Given the description of an element on the screen output the (x, y) to click on. 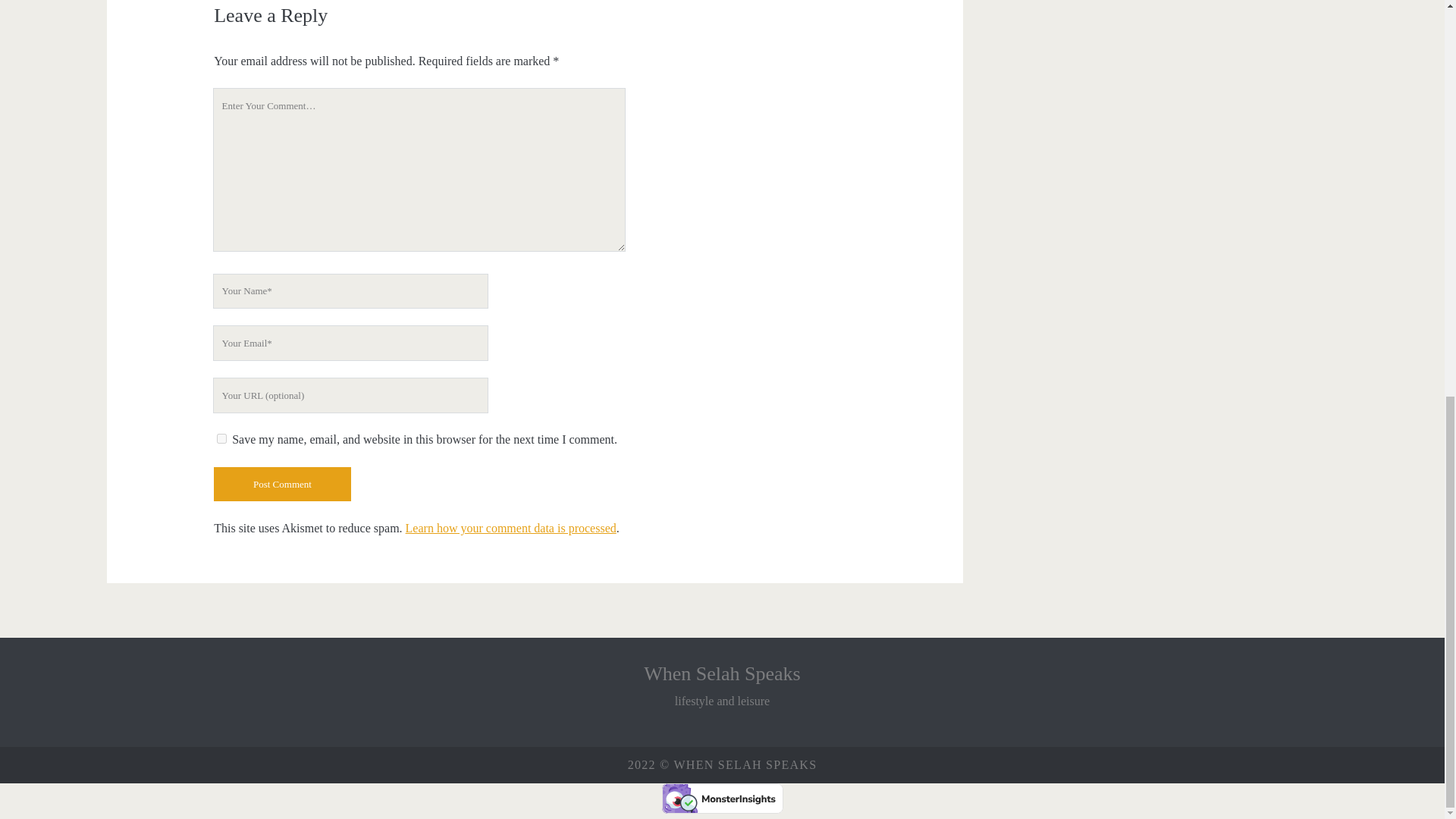
Post Comment (282, 483)
Post Comment (282, 483)
Verified by MonsterInsights (722, 798)
When Selah Speaks (721, 673)
Learn how your comment data is processed (510, 527)
yes (221, 438)
